Given the description of an element on the screen output the (x, y) to click on. 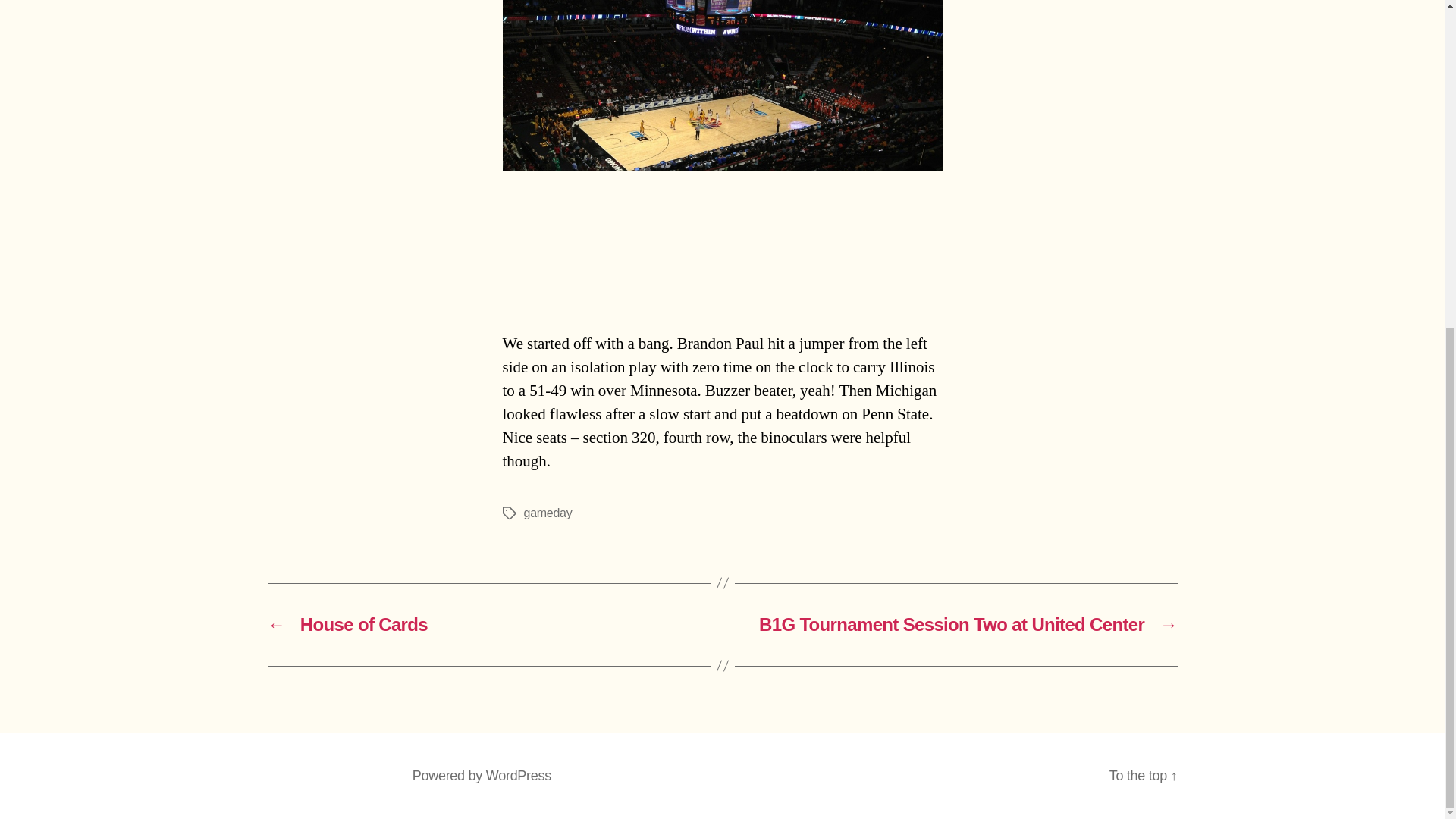
gameday (547, 512)
Powered by WordPress (481, 775)
John Steffen (354, 775)
